Given the description of an element on the screen output the (x, y) to click on. 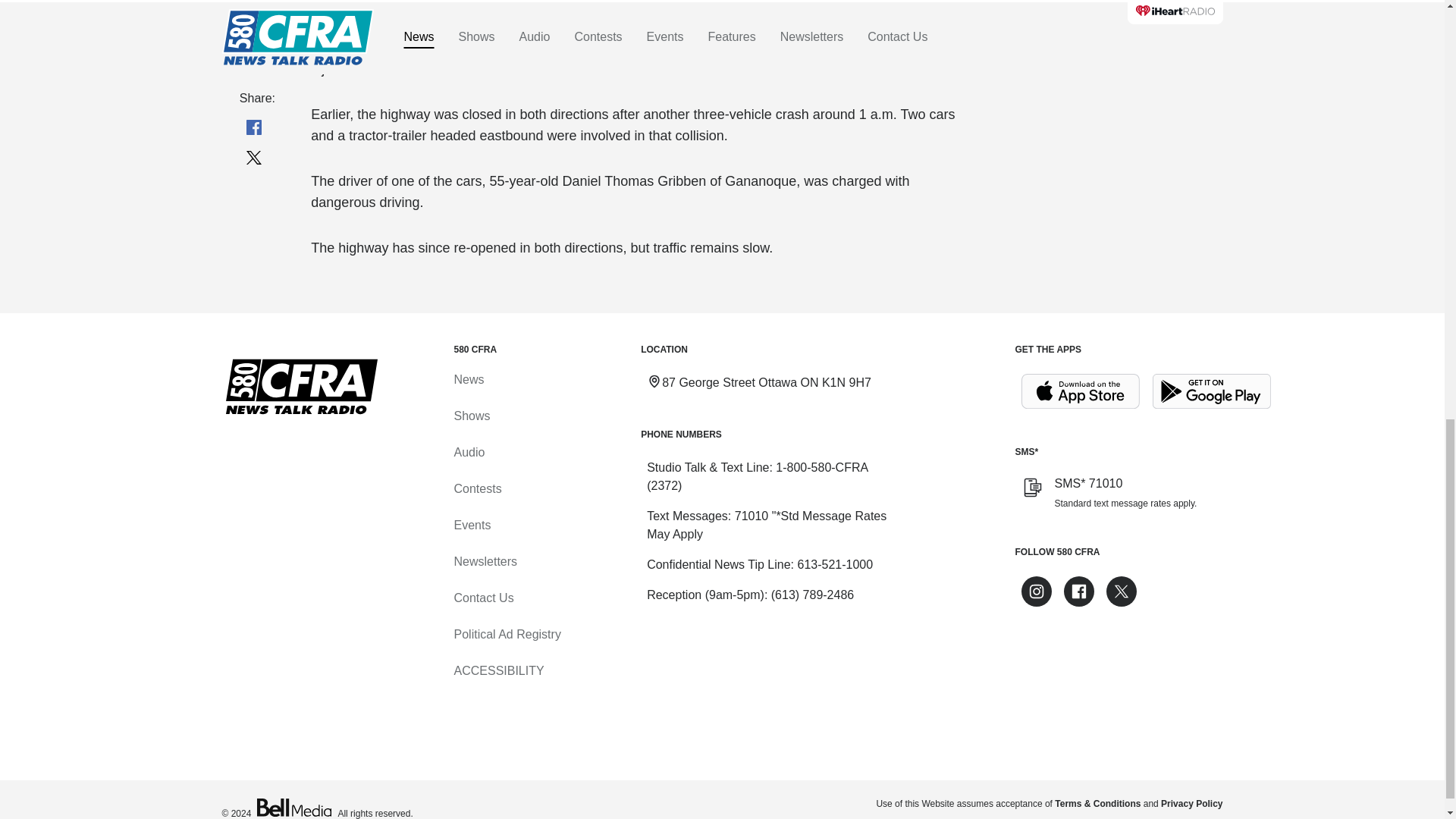
Download on the App Store (1080, 391)
Political Ad Registry (506, 634)
Shows (470, 415)
ACCESSIBILITY (497, 671)
613-521-1000 (834, 563)
Contests (476, 488)
Accessibility (497, 671)
Privacy Policy (1191, 803)
Events (471, 524)
Audio (468, 451)
